Given the description of an element on the screen output the (x, y) to click on. 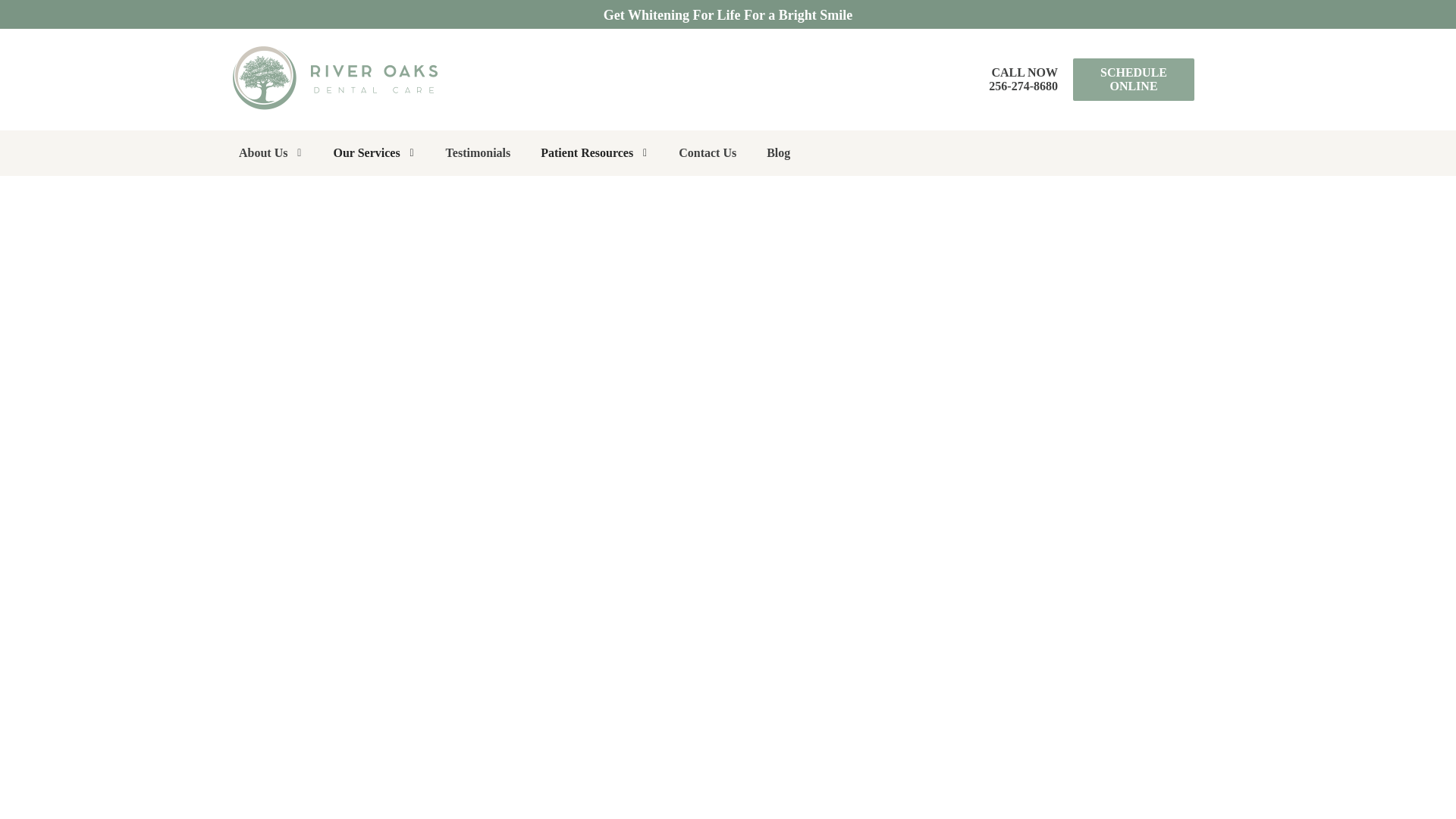
About Us (269, 153)
Get Whitening For Life For a Bright Smile (727, 14)
SCHEDULE ONLINE (1023, 79)
